Given the description of an element on the screen output the (x, y) to click on. 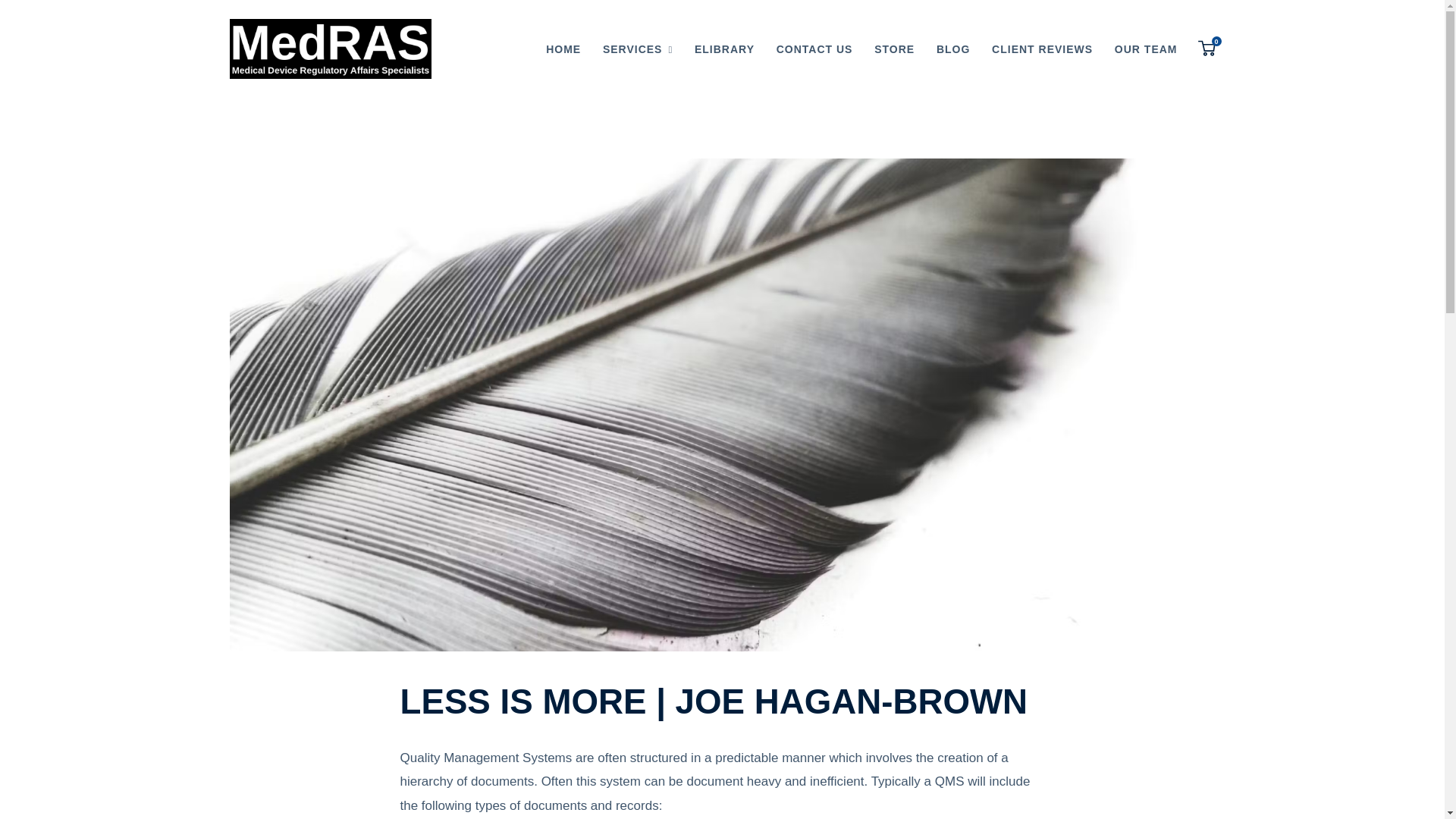
CLIENT REVIEWS (1206, 48)
HOME (1042, 48)
OUR TEAM (563, 48)
STORE (1145, 48)
CONTACT US (893, 48)
BLOG (814, 48)
ELIBRARY (952, 48)
